Given the description of an element on the screen output the (x, y) to click on. 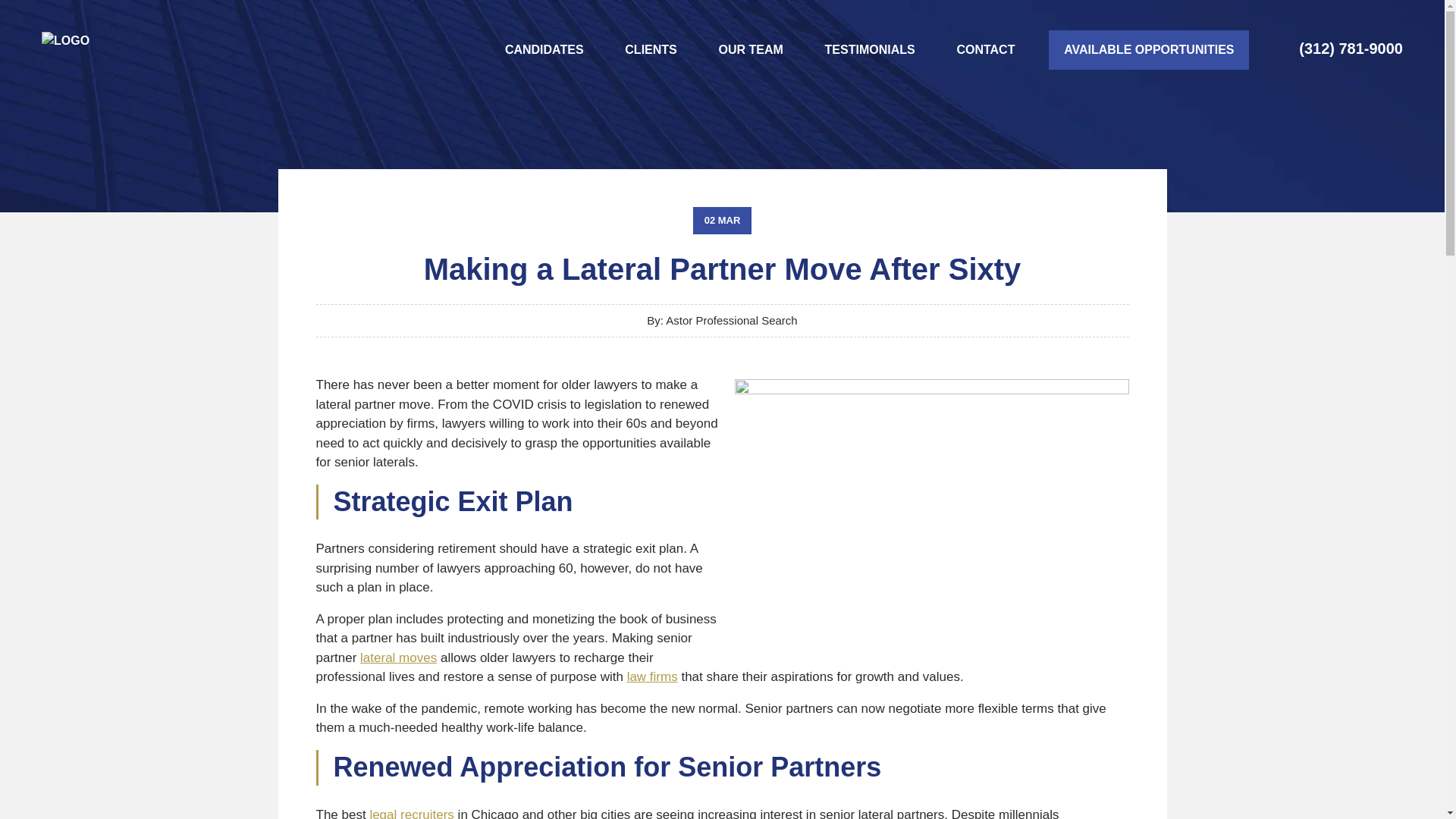
TESTIMONIALS (870, 49)
OUR TEAM (751, 49)
CLIENTS (650, 49)
legal recruiters (411, 813)
law firms (652, 676)
AVAILABLE OPPORTUNITIES (1148, 49)
lateral moves (397, 657)
CONTACT (985, 49)
CANDIDATES (544, 49)
